Given the description of an element on the screen output the (x, y) to click on. 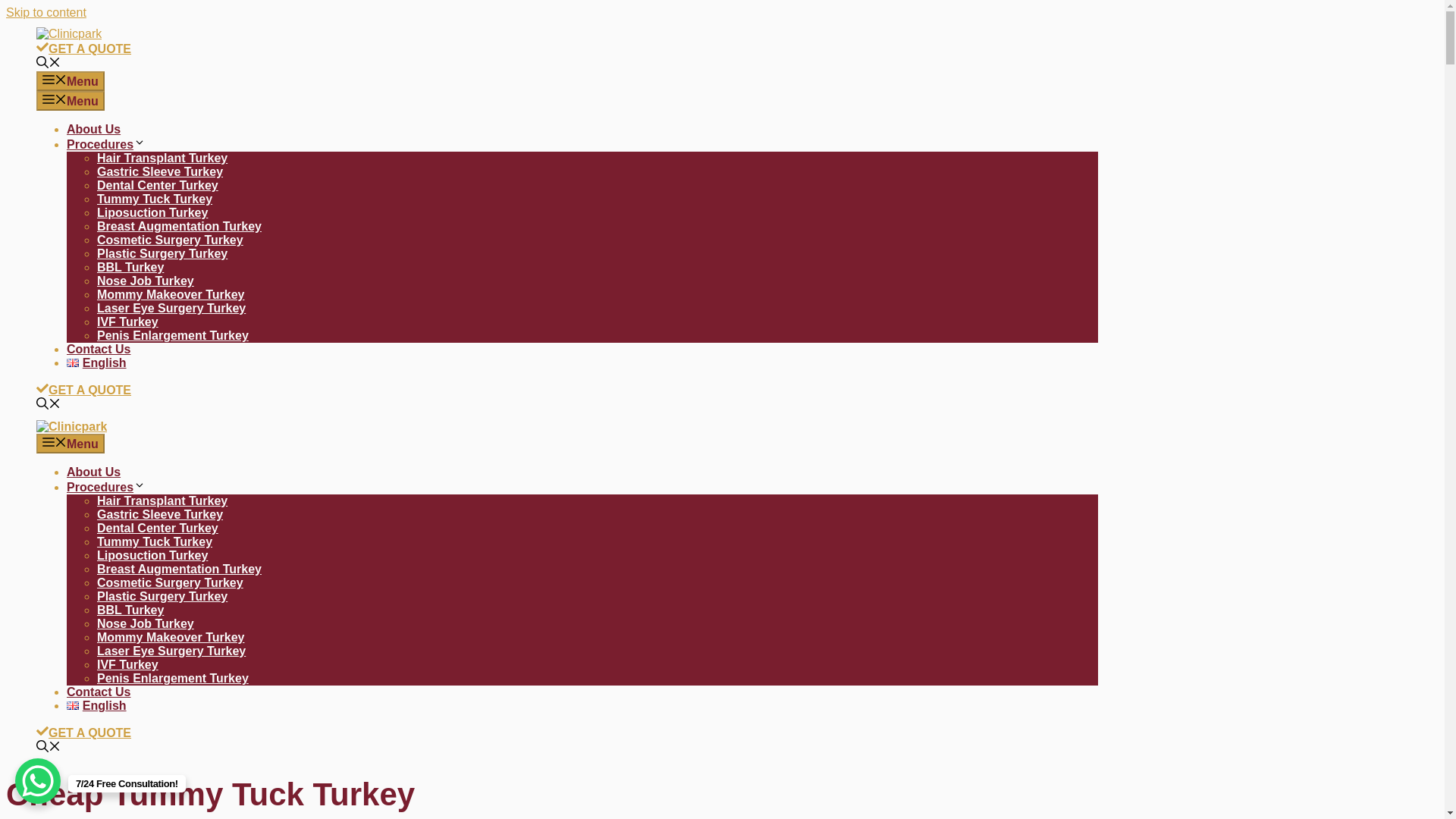
Menu (70, 443)
Gastric Sleeve Turkey (159, 171)
Breast Augmentation Turkey (179, 226)
Skip to content (45, 11)
Skip to content (45, 11)
GET A QUOTE (83, 48)
Tummy Tuck Turkey (154, 541)
BBL Turkey (130, 609)
Nose Job Turkey (145, 280)
Gastric Sleeve Turkey (159, 513)
Laser Eye Surgery Turkey (171, 308)
Procedures (105, 486)
Liposuction Turkey (152, 212)
GET A QUOTE (83, 390)
Cosmetic Surgery Turkey (170, 582)
